Given the description of an element on the screen output the (x, y) to click on. 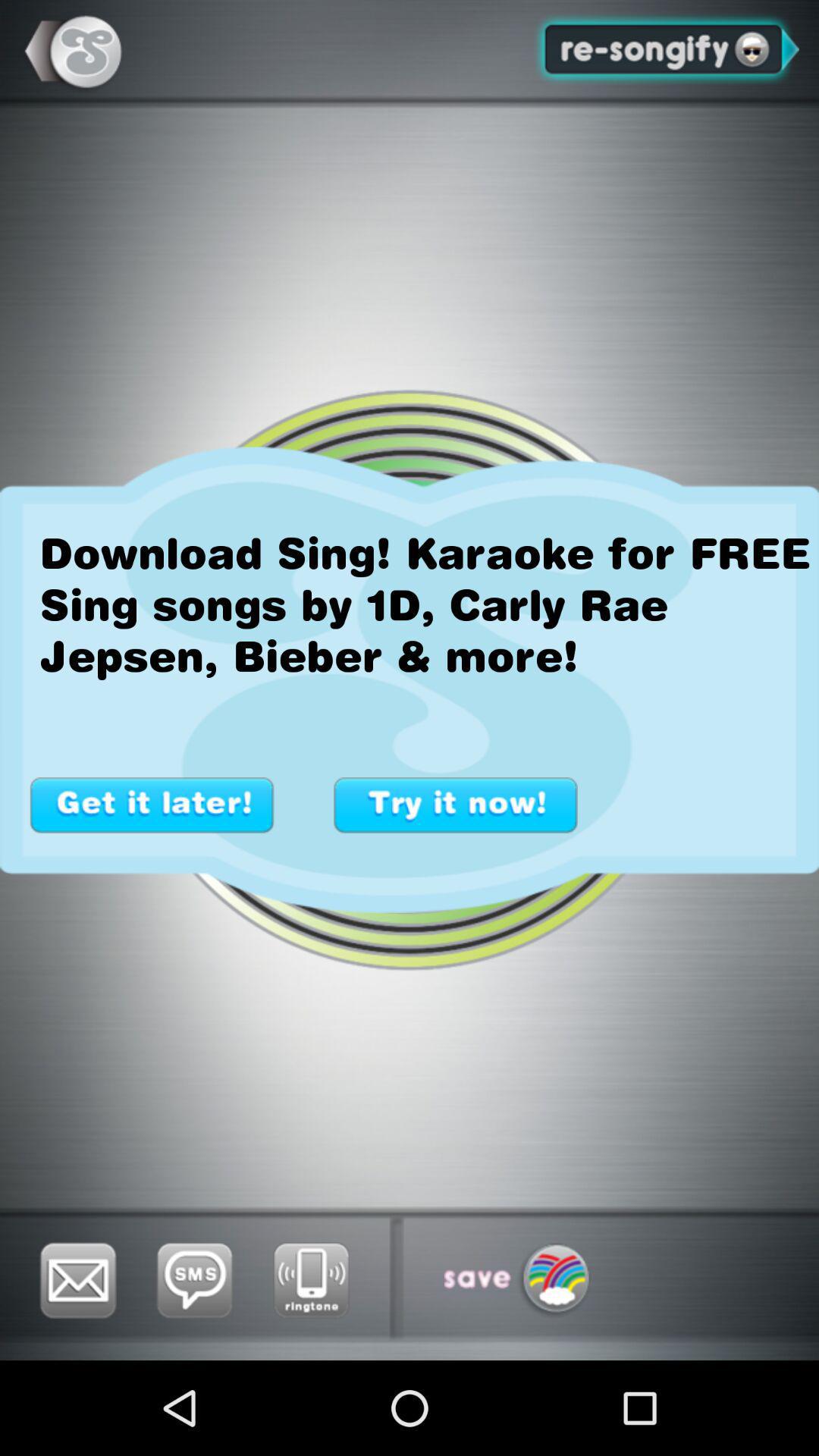
close without entering (152, 805)
